Given the description of an element on the screen output the (x, y) to click on. 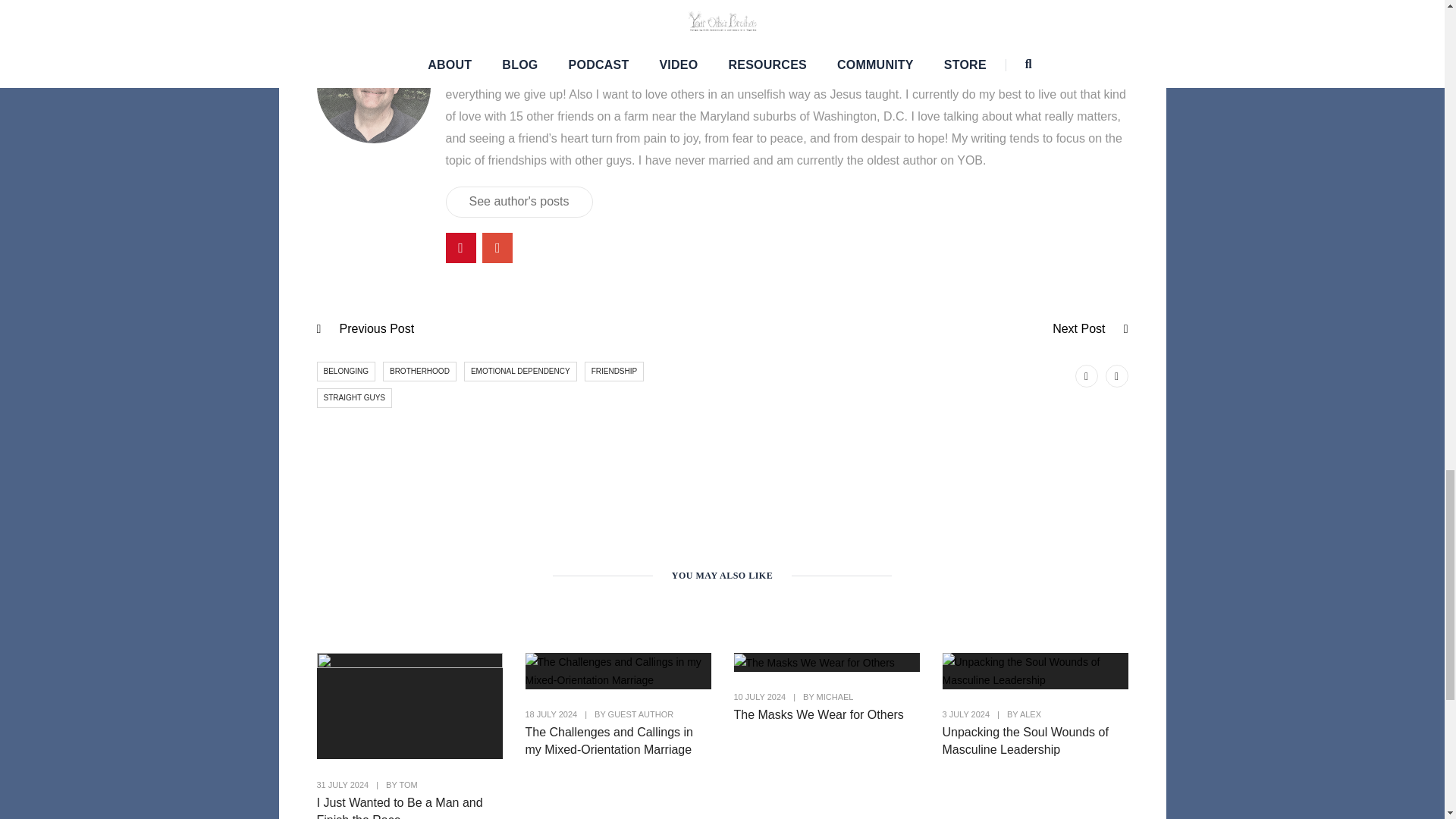
MARSHALL (496, 39)
BELONGING (346, 371)
Previous Post (376, 328)
Next Post (1078, 328)
See author's posts (518, 201)
